Given the description of an element on the screen output the (x, y) to click on. 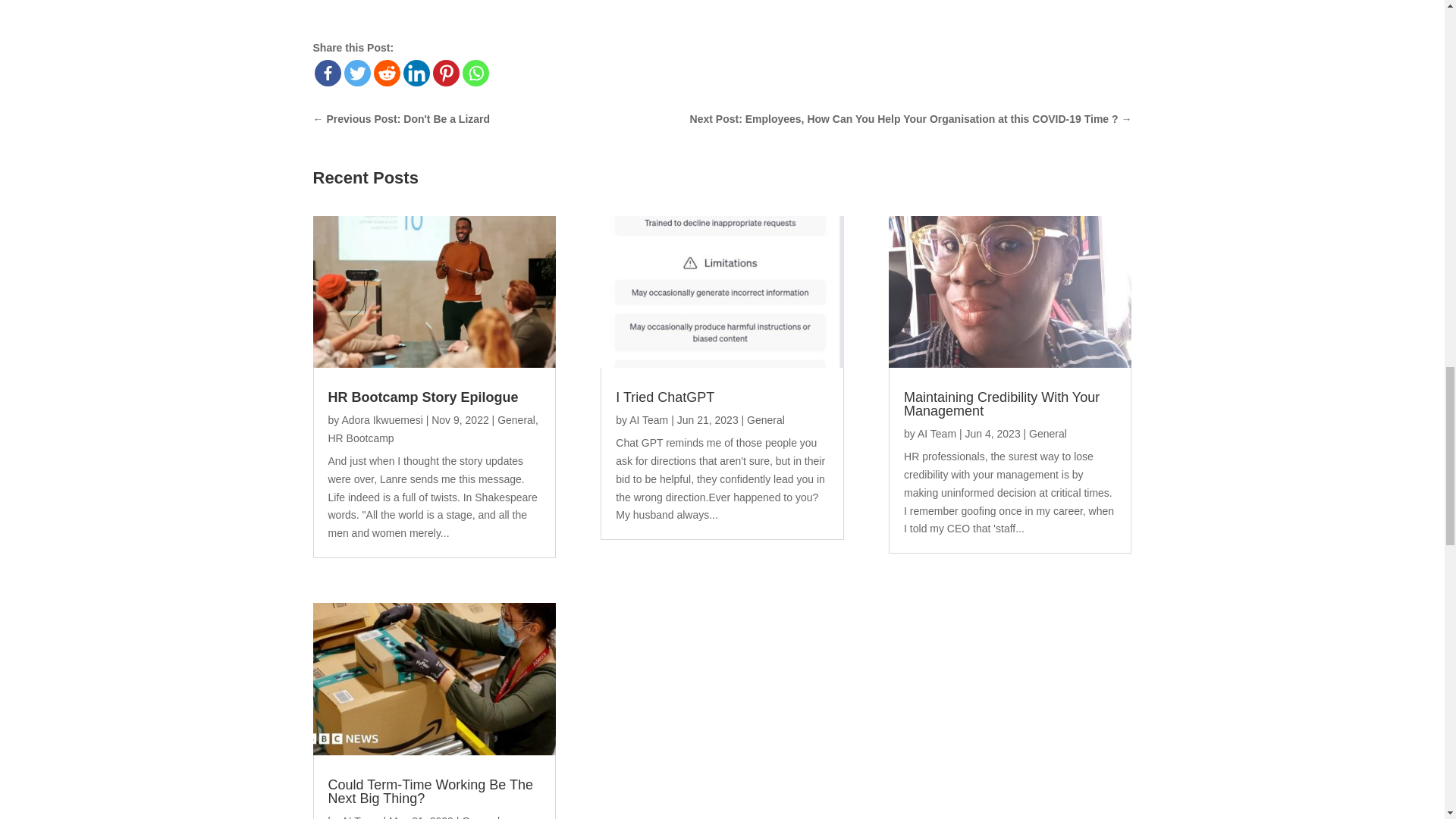
Posts by Adora Ikwuemesi (381, 419)
HR Bootcamp (360, 438)
Whatsapp (476, 72)
General (480, 816)
Facebook (327, 72)
Could Term-Time Working Be The Next Big Thing? (429, 791)
AI Team (648, 419)
Adora Ikwuemesi (381, 419)
Reddit (385, 72)
Twitter (357, 72)
